Given the description of an element on the screen output the (x, y) to click on. 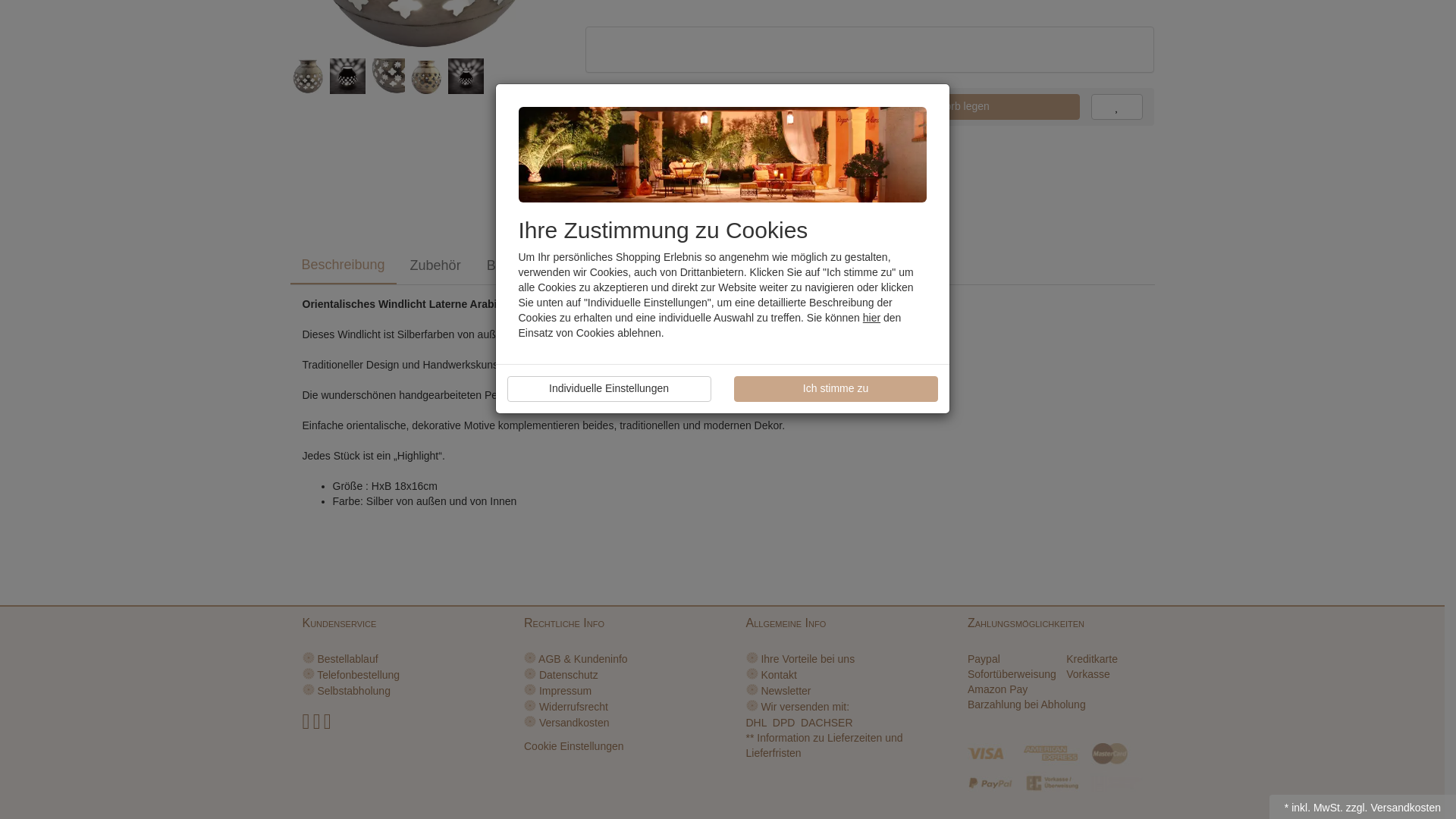
1 (661, 106)
